Given the description of an element on the screen output the (x, y) to click on. 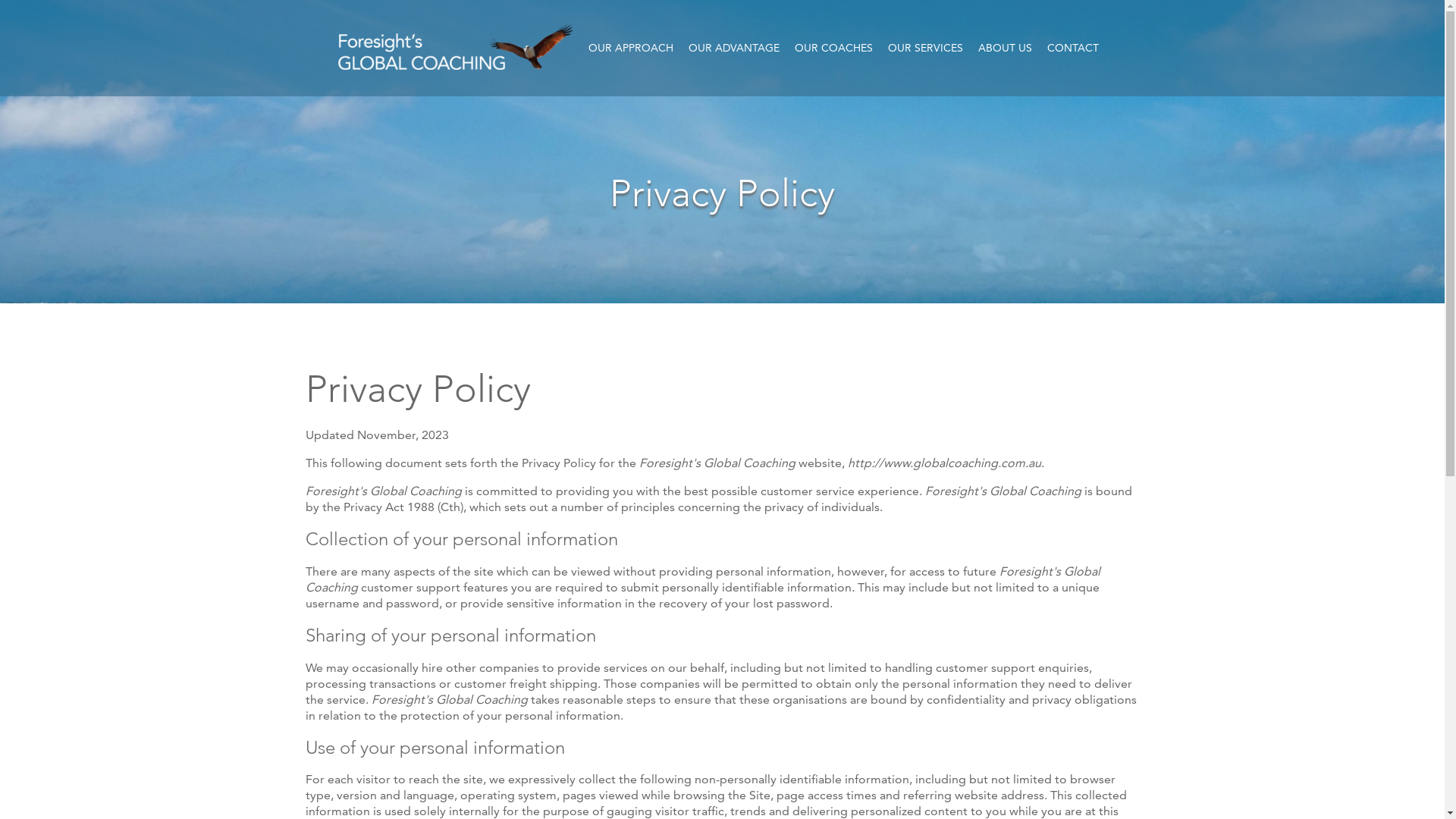
OUR SERVICES Element type: text (925, 47)
ABOUT US Element type: text (1004, 47)
CONTACT Element type: text (1072, 47)
OUR ADVANTAGE Element type: text (733, 47)
OUR COACHES Element type: text (833, 47)
OUR APPROACH Element type: text (630, 47)
